Given the description of an element on the screen output the (x, y) to click on. 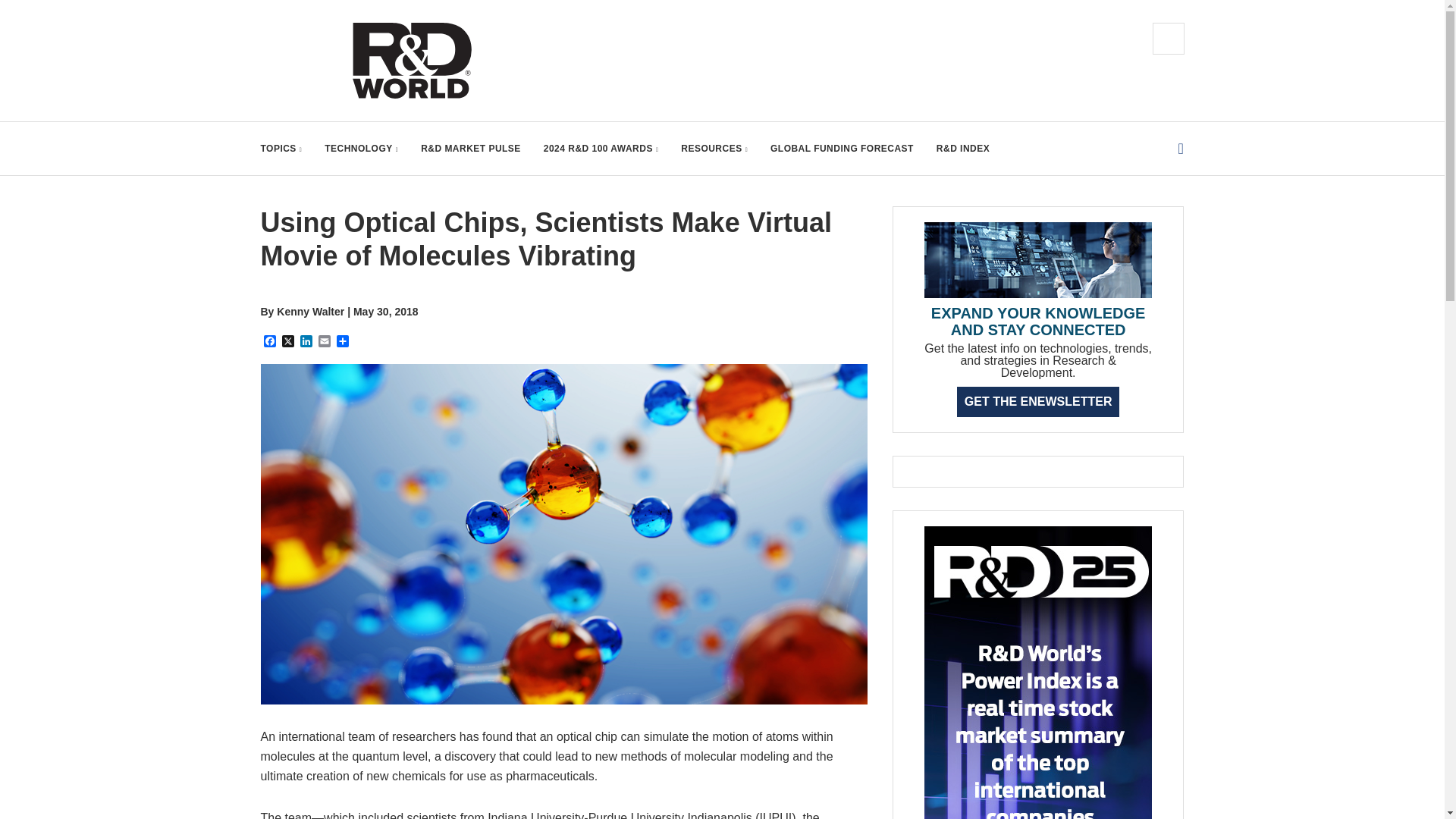
X (288, 341)
RESOURCES (714, 148)
TECHNOLOGY (360, 148)
Email (324, 341)
LinkedIn (306, 341)
Facebook (269, 341)
